Given the description of an element on the screen output the (x, y) to click on. 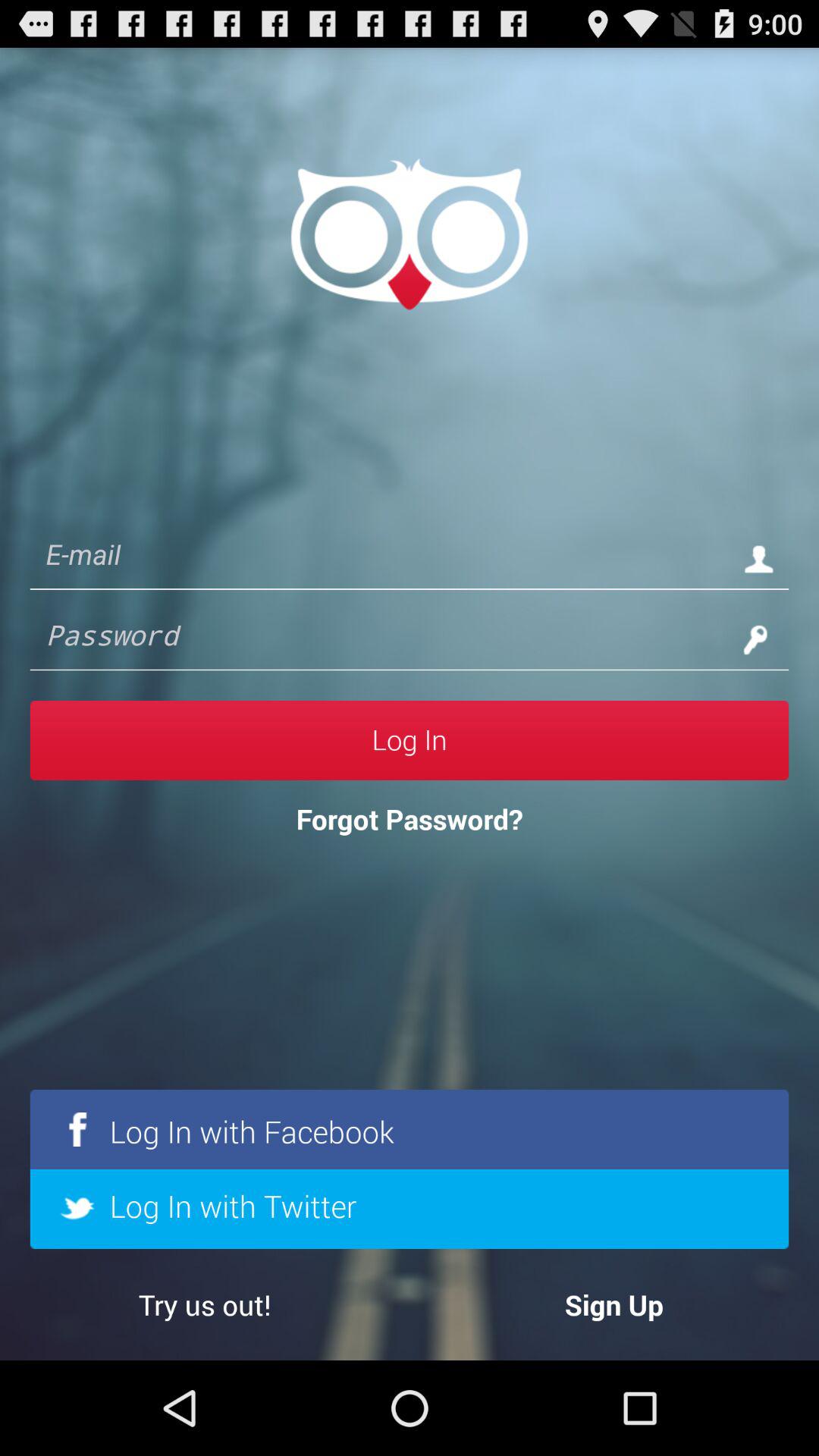
enter email address (379, 558)
